Given the description of an element on the screen output the (x, y) to click on. 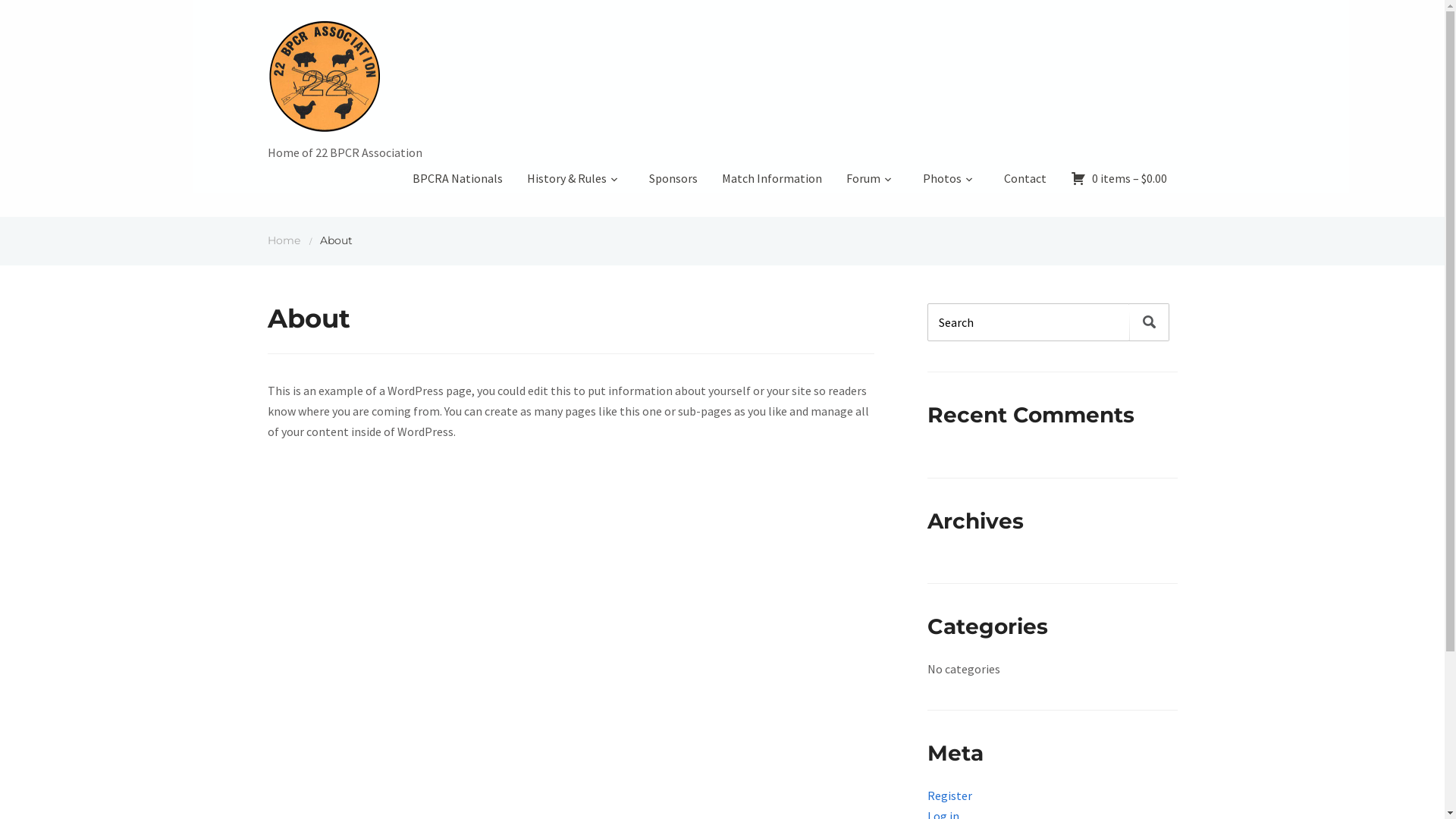
Sponsors Element type: text (673, 183)
BPCRA Nationals Element type: text (457, 183)
Register Element type: text (948, 795)
Home Element type: text (282, 240)
History & Rules Element type: text (574, 184)
Search Element type: text (1149, 322)
Home of 22 BPCR Association Element type: hover (343, 80)
Forum Element type: text (872, 184)
Match Information Element type: text (771, 183)
Photos Element type: text (950, 184)
Contact Element type: text (1025, 183)
